Given the description of an element on the screen output the (x, y) to click on. 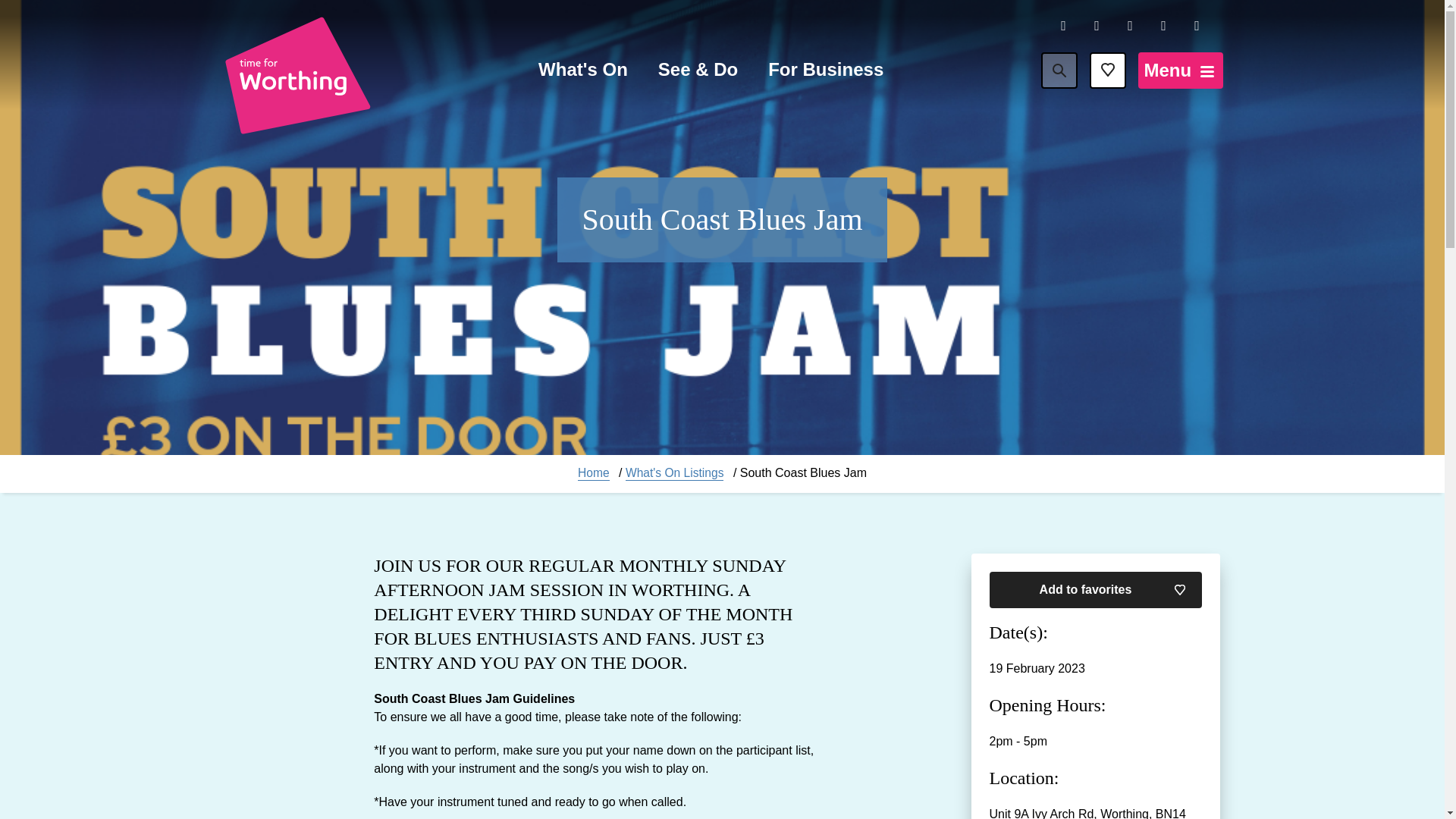
Like us on Facebook (1063, 25)
Facebook (1063, 25)
Favourites (1107, 70)
Follow us on Twitter (1129, 25)
Instagram (1096, 25)
Find us on LinkedIn (1163, 25)
What's On (582, 70)
Follow us on Instagram (1096, 25)
Twitter (1129, 25)
Menu (1180, 70)
